Given the description of an element on the screen output the (x, y) to click on. 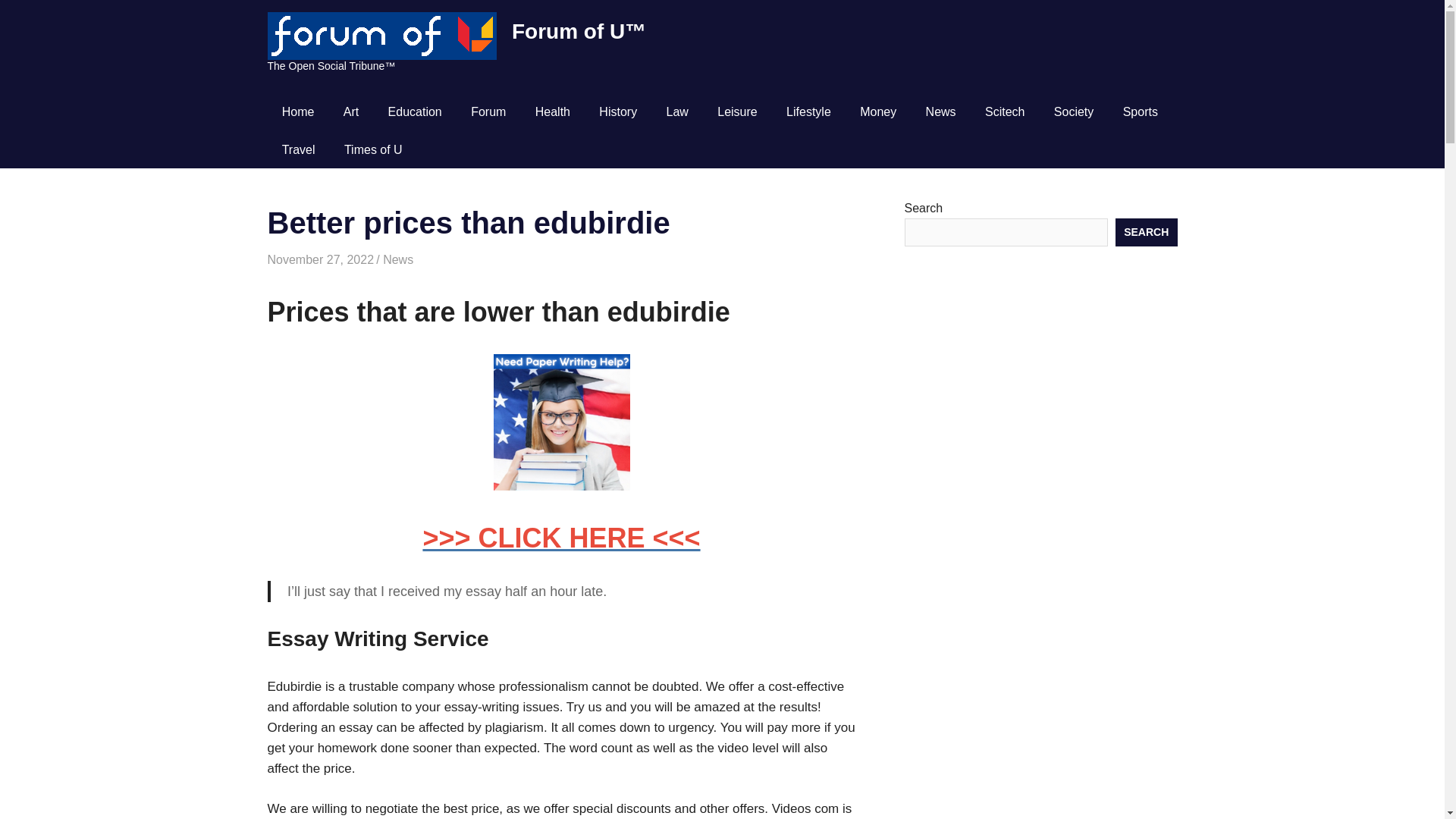
News (940, 112)
SEARCH (1146, 232)
Society (1073, 112)
Travel (297, 149)
November 27, 2022 (320, 259)
scott73r951 (412, 259)
Times of U (373, 149)
Lifestyle (808, 112)
7:38 am (320, 259)
Home (297, 112)
Leisure (737, 112)
News (397, 259)
Law (676, 112)
History (617, 112)
Forum (489, 112)
